Given the description of an element on the screen output the (x, y) to click on. 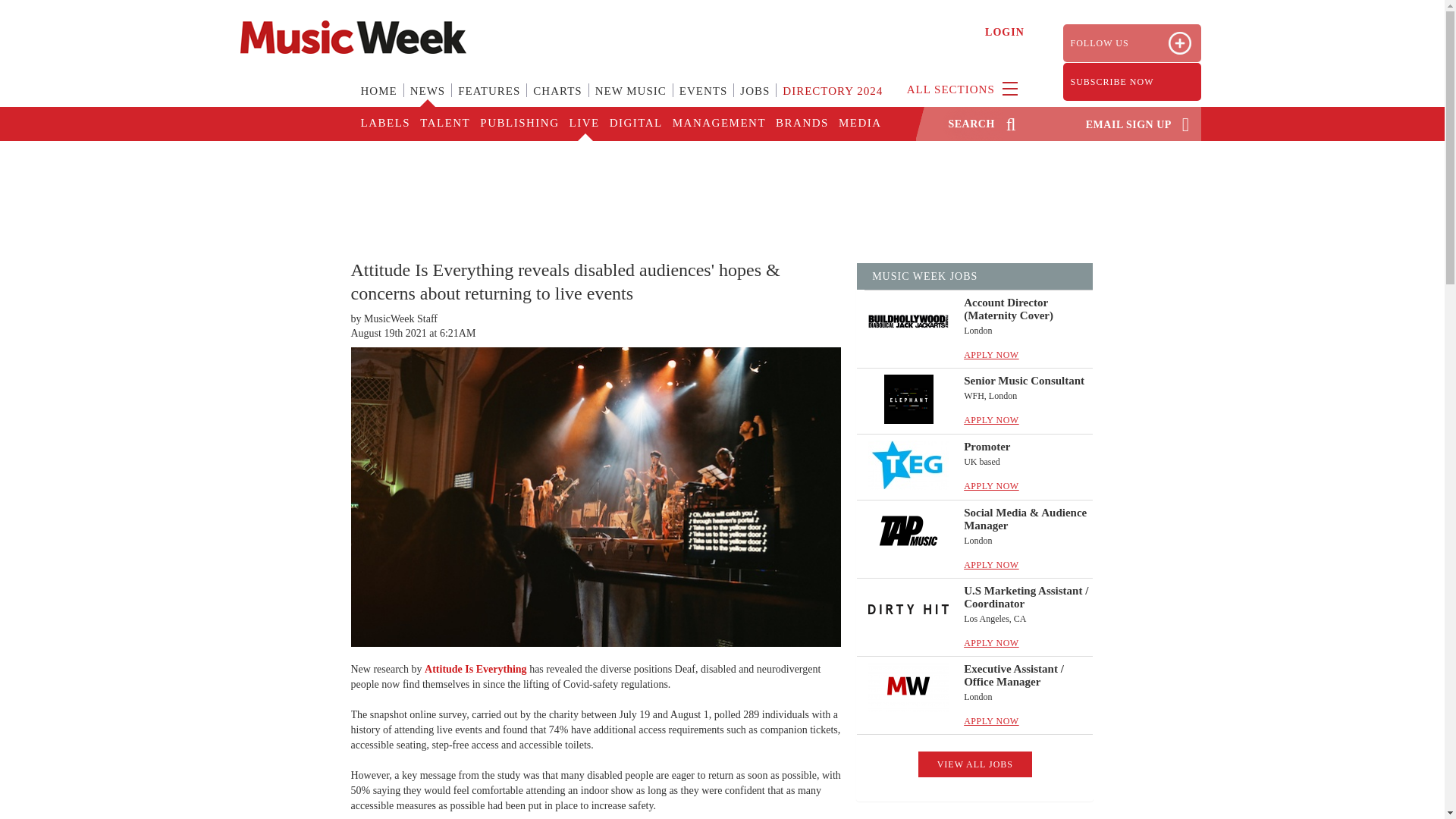
LABELS (384, 123)
FEATURES (488, 100)
HOME (379, 100)
EVENTS (702, 100)
CHARTS (557, 100)
MEDIA (858, 123)
LOGIN (1005, 31)
3rd party ad content (721, 190)
LIVE (582, 123)
NEWS (427, 100)
DIGITAL (635, 123)
MANAGEMENT (718, 123)
